Given the description of an element on the screen output the (x, y) to click on. 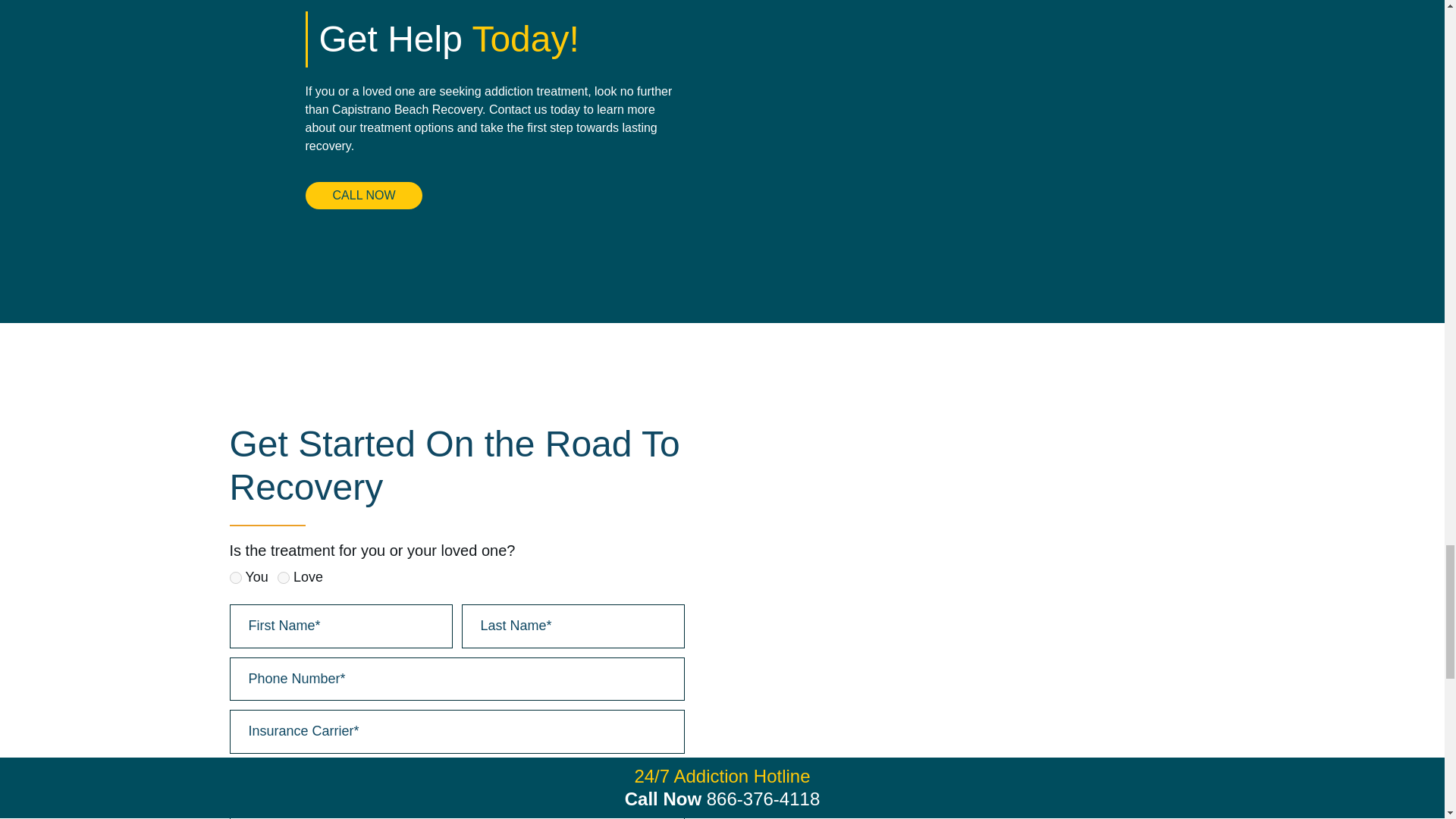
Love (283, 577)
You (234, 577)
